Given the description of an element on the screen output the (x, y) to click on. 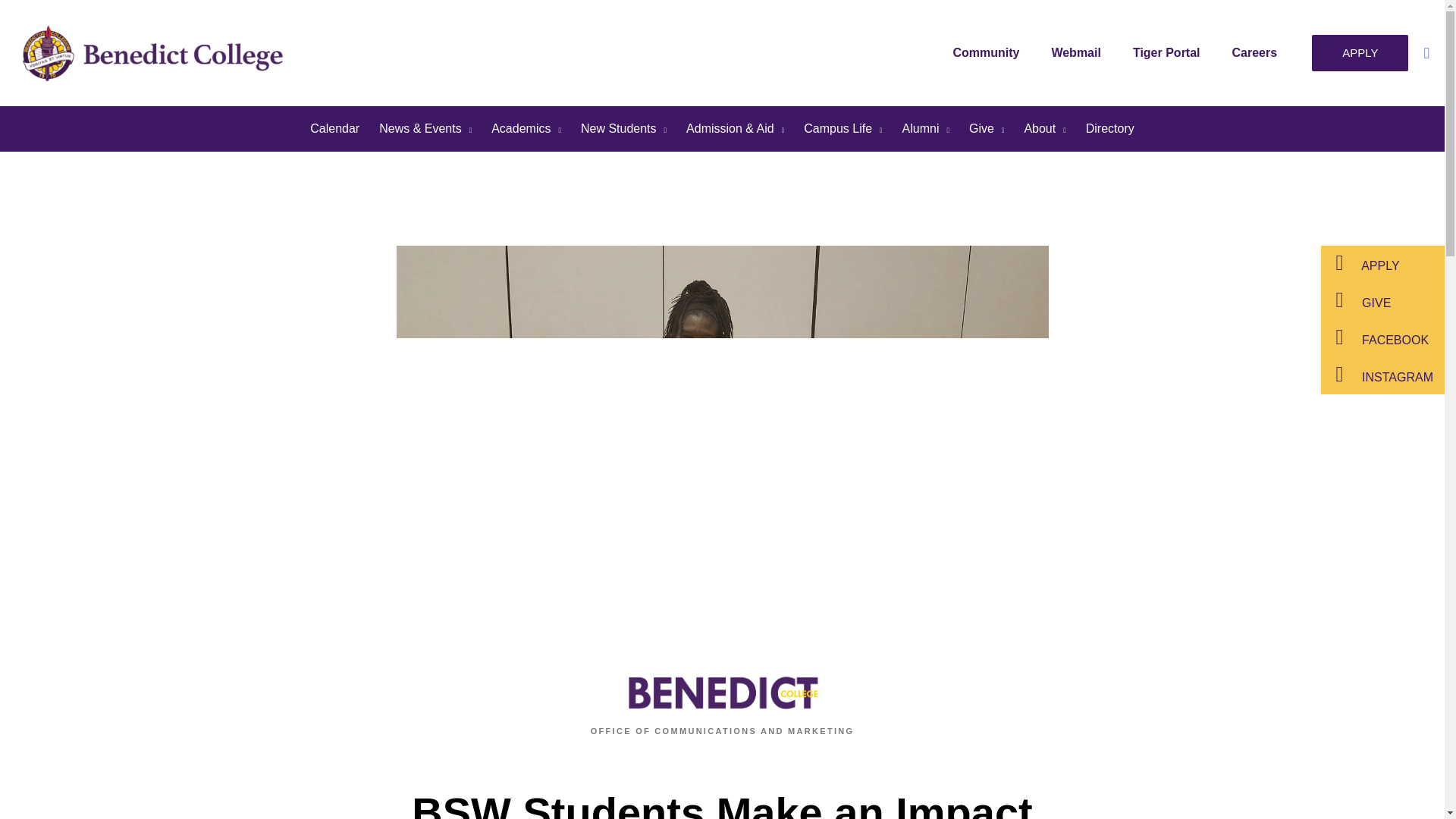
Tiger Portal (1170, 52)
APPLY (1359, 53)
Careers (1258, 52)
Webmail (1080, 52)
Calendar (334, 128)
Academics (525, 128)
Community (989, 52)
